Given the description of an element on the screen output the (x, y) to click on. 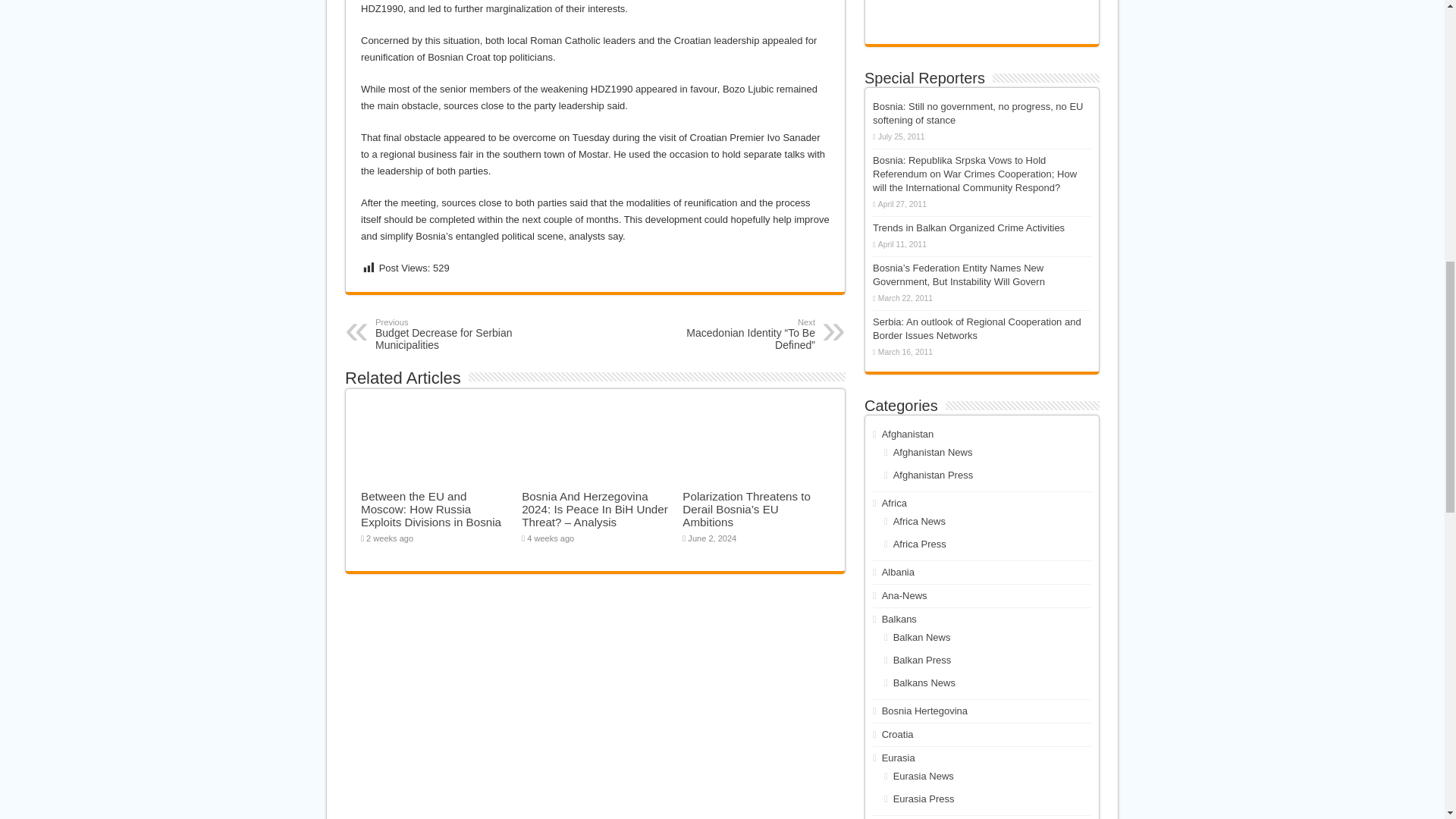
Scroll To Top (453, 334)
